Given the description of an element on the screen output the (x, y) to click on. 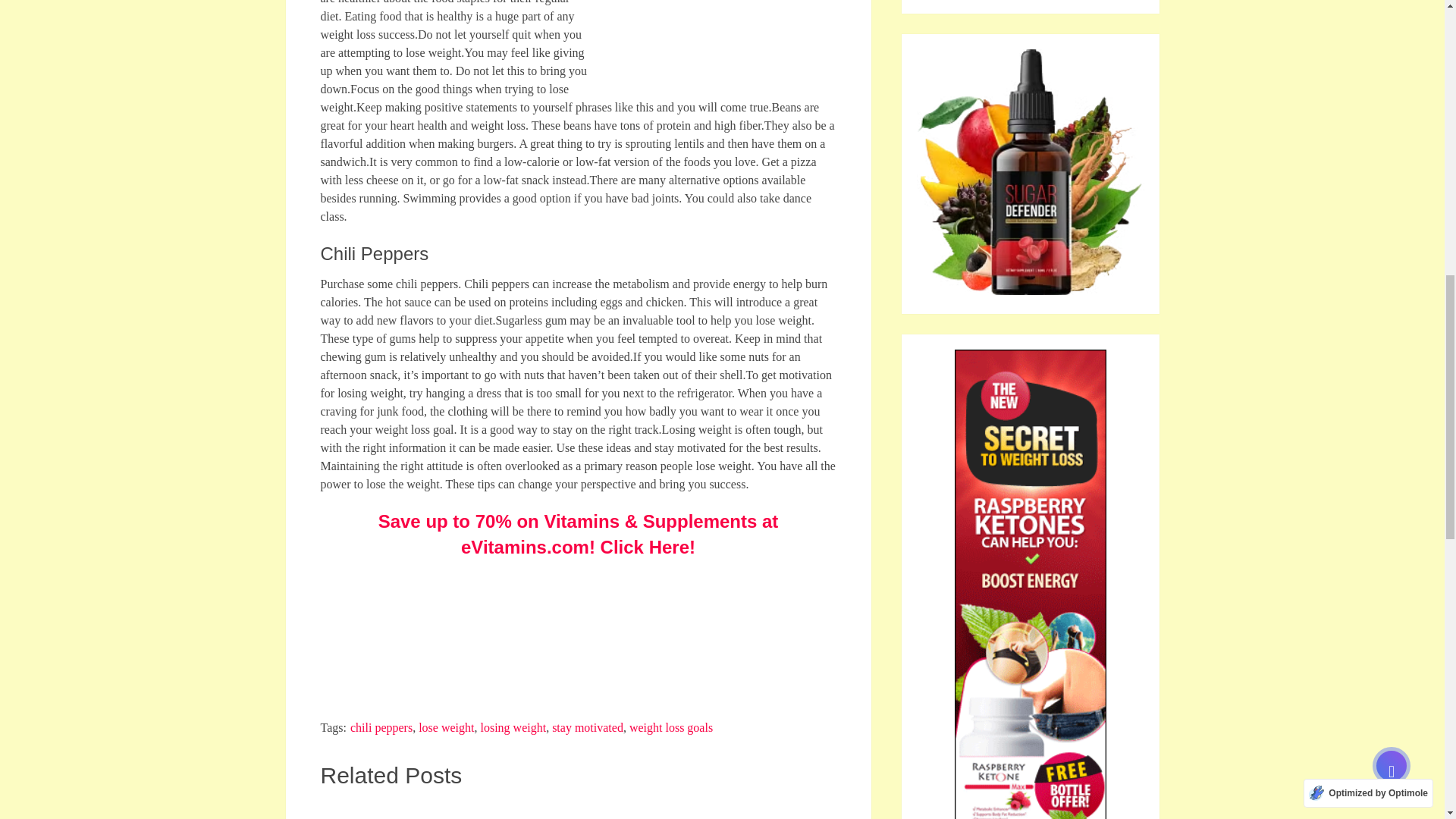
Discover The Best Weight Loss Tips Now! (756, 809)
Discover The Best Weight Loss Tips Now! (756, 809)
Lose Weight With A Pocketful Of Advice (713, 37)
lose weight (446, 727)
weight loss goals (670, 727)
Lose Weight With A Pocketful Of Advice (547, 634)
Discover The Best Weight Loss Tips Now! (756, 809)
losing weight (513, 727)
chili peppers (381, 727)
